Given the description of an element on the screen output the (x, y) to click on. 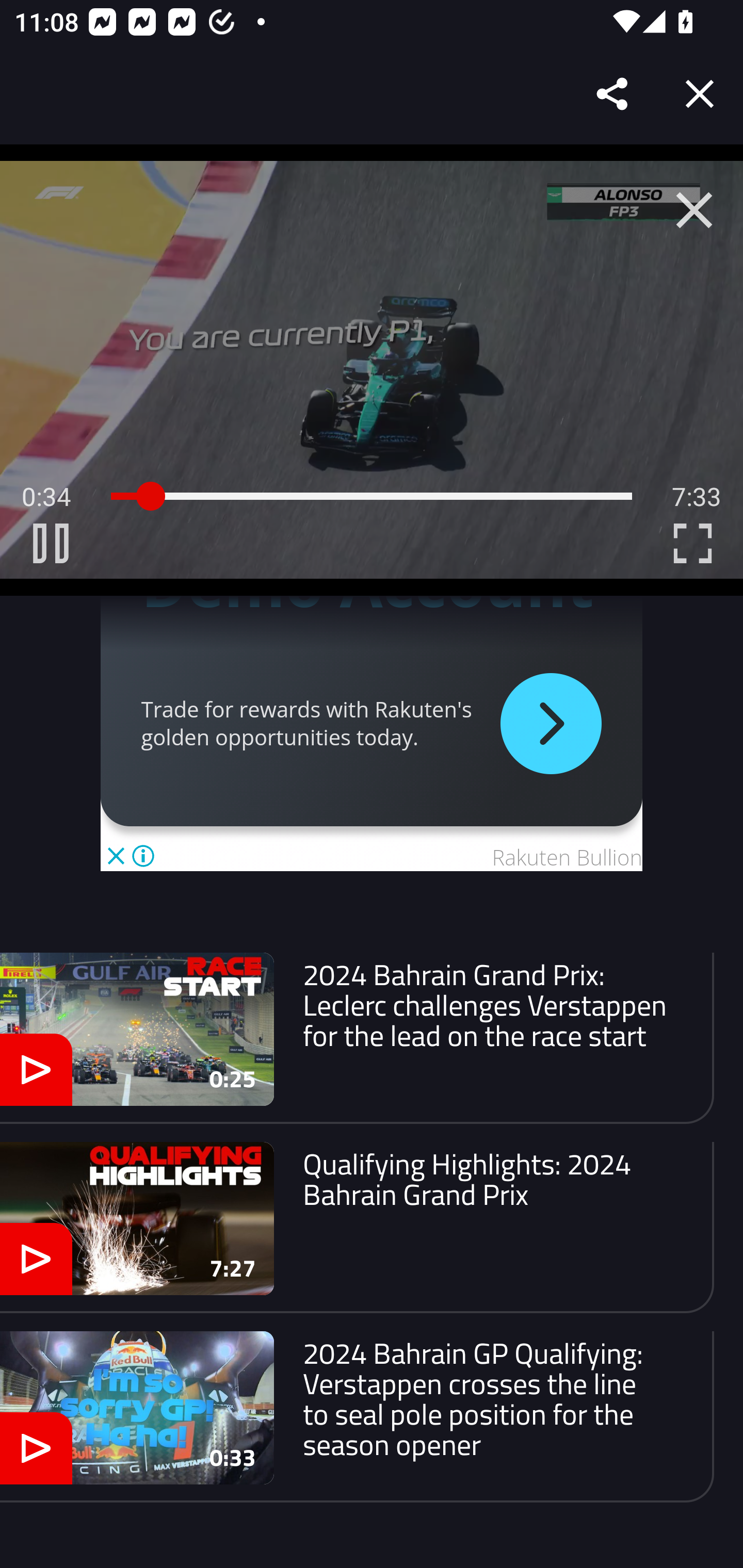
Share (612, 93)
Close (699, 93)
 Close (693, 210)
B Pause (50, 543)
C Enter Fullscreen (692, 543)
Rakuten Bullion (566, 857)
